Given the description of an element on the screen output the (x, y) to click on. 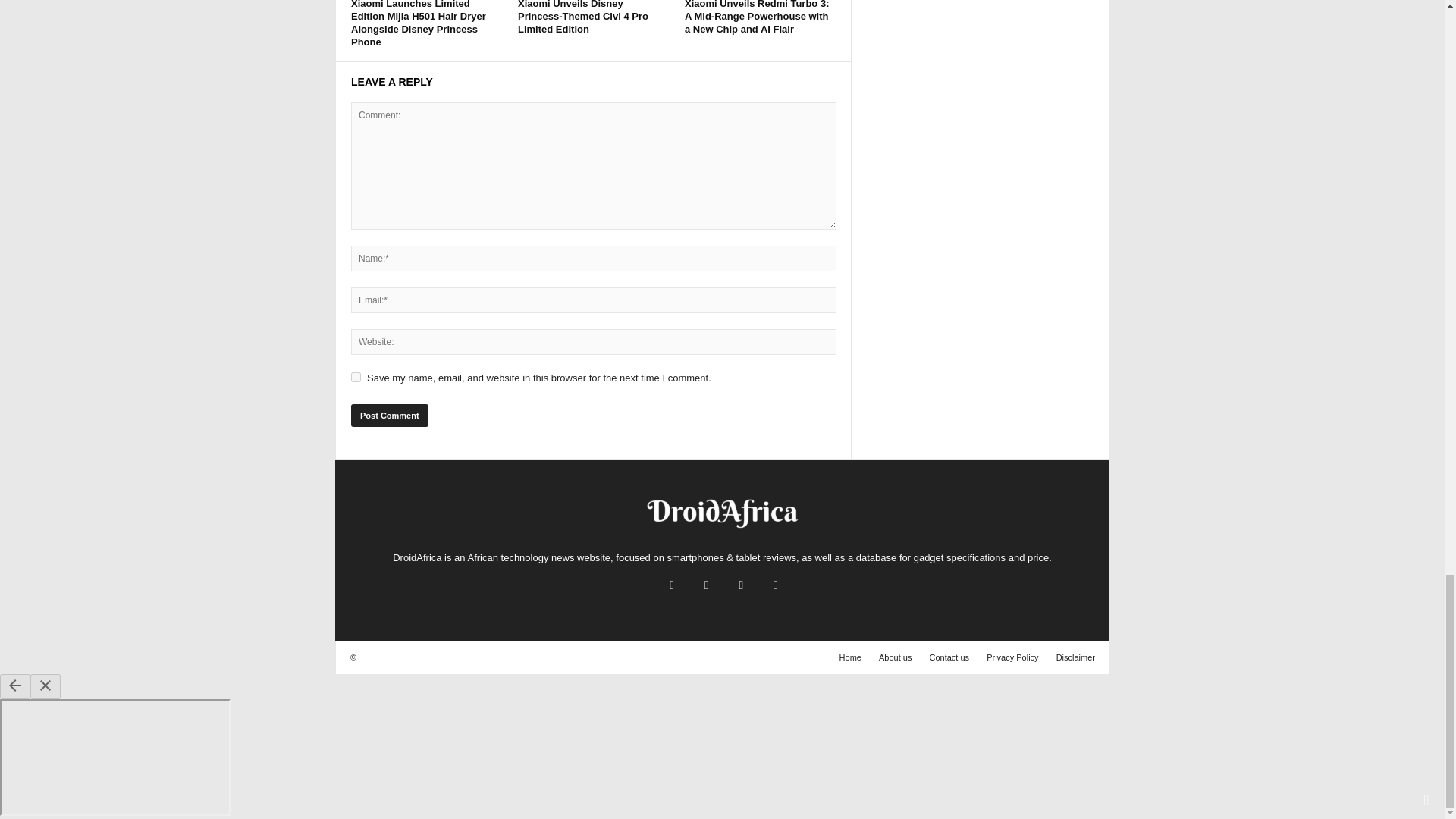
yes (355, 377)
Post Comment (389, 415)
